Given the description of an element on the screen output the (x, y) to click on. 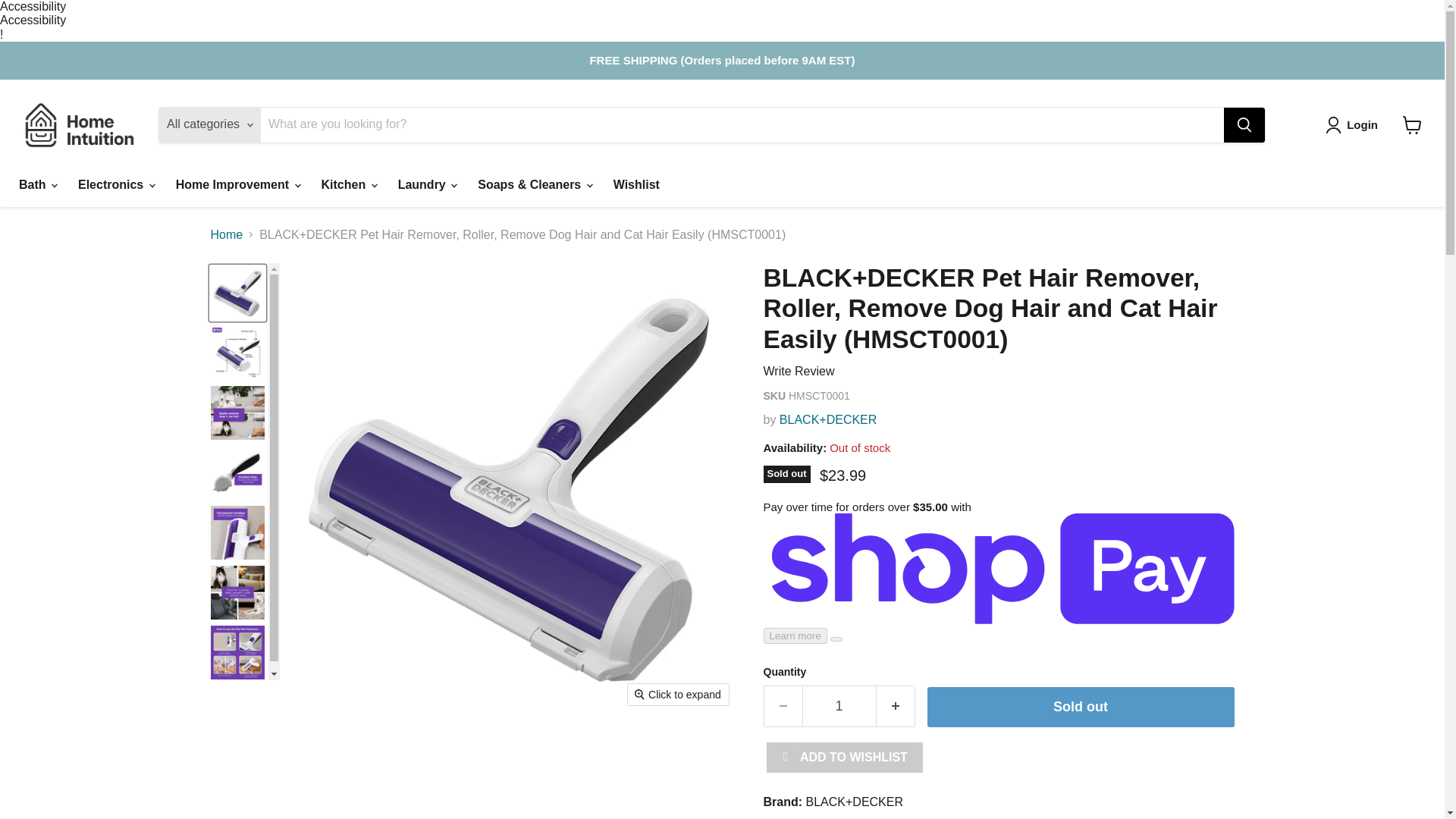
View cart (1411, 124)
Wishlist (636, 184)
1 (839, 706)
Login (1354, 125)
